Given the description of an element on the screen output the (x, y) to click on. 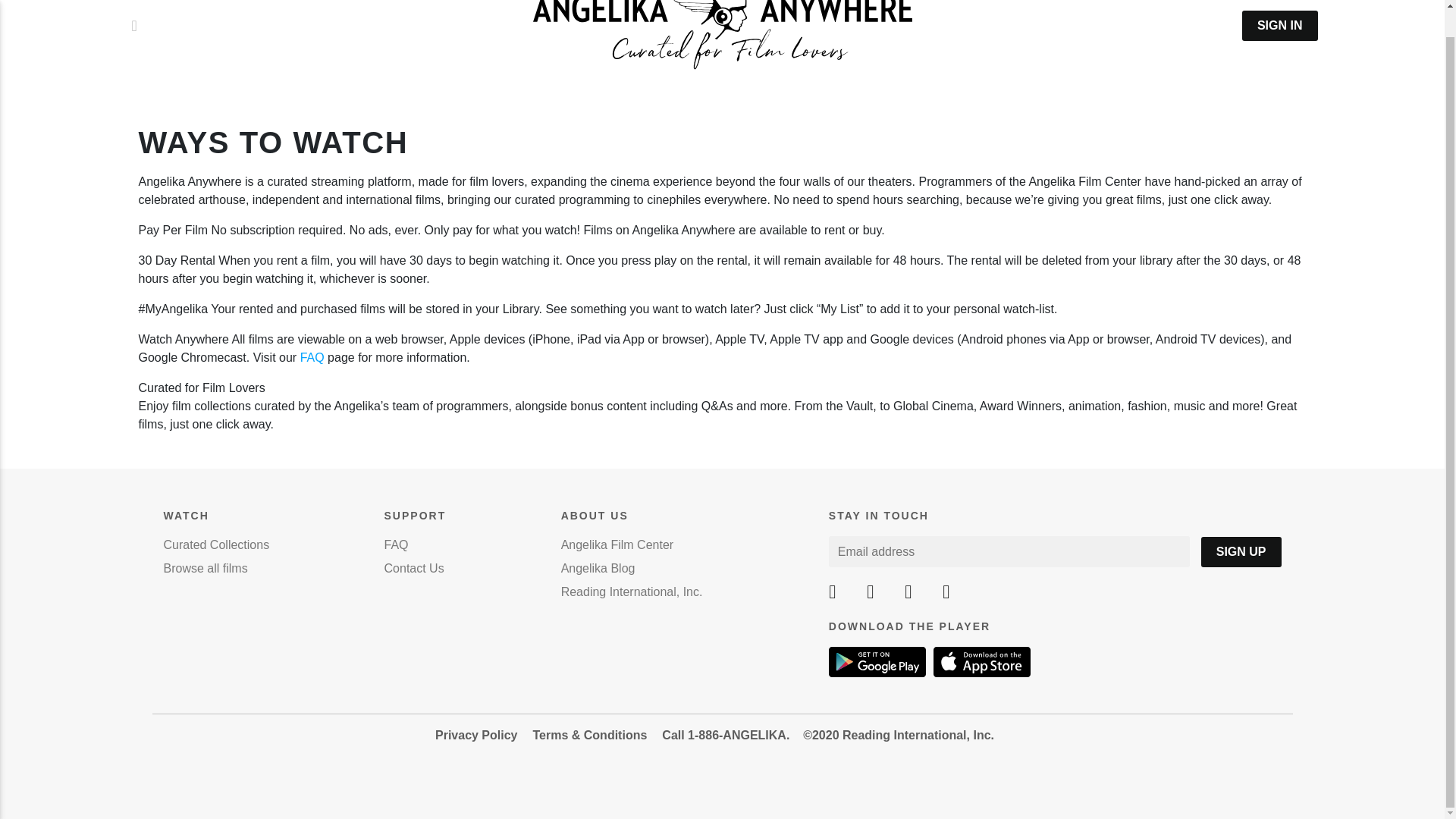
FAQ (396, 544)
FAQ (311, 357)
Angelika Film Center (617, 544)
Curated Collections (216, 544)
SIGN IN (1279, 25)
Angelika Blog (597, 567)
Contact Us (414, 567)
Shift72 (721, 35)
Browse all films (205, 567)
